Given the description of an element on the screen output the (x, y) to click on. 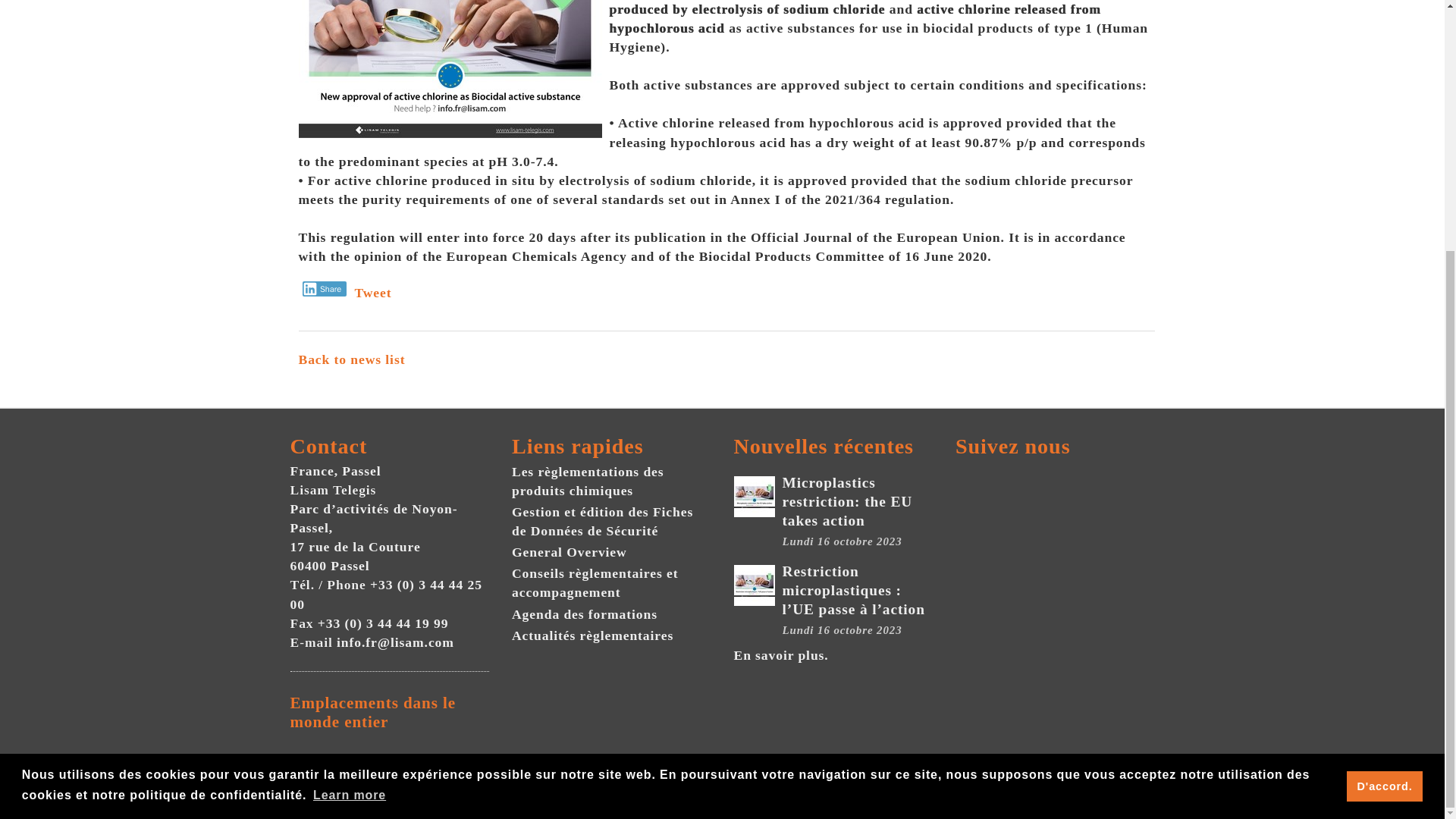
Emplacements dans le monde entier (389, 712)
Learn more (349, 441)
D'accord. (1384, 432)
